Given the description of an element on the screen output the (x, y) to click on. 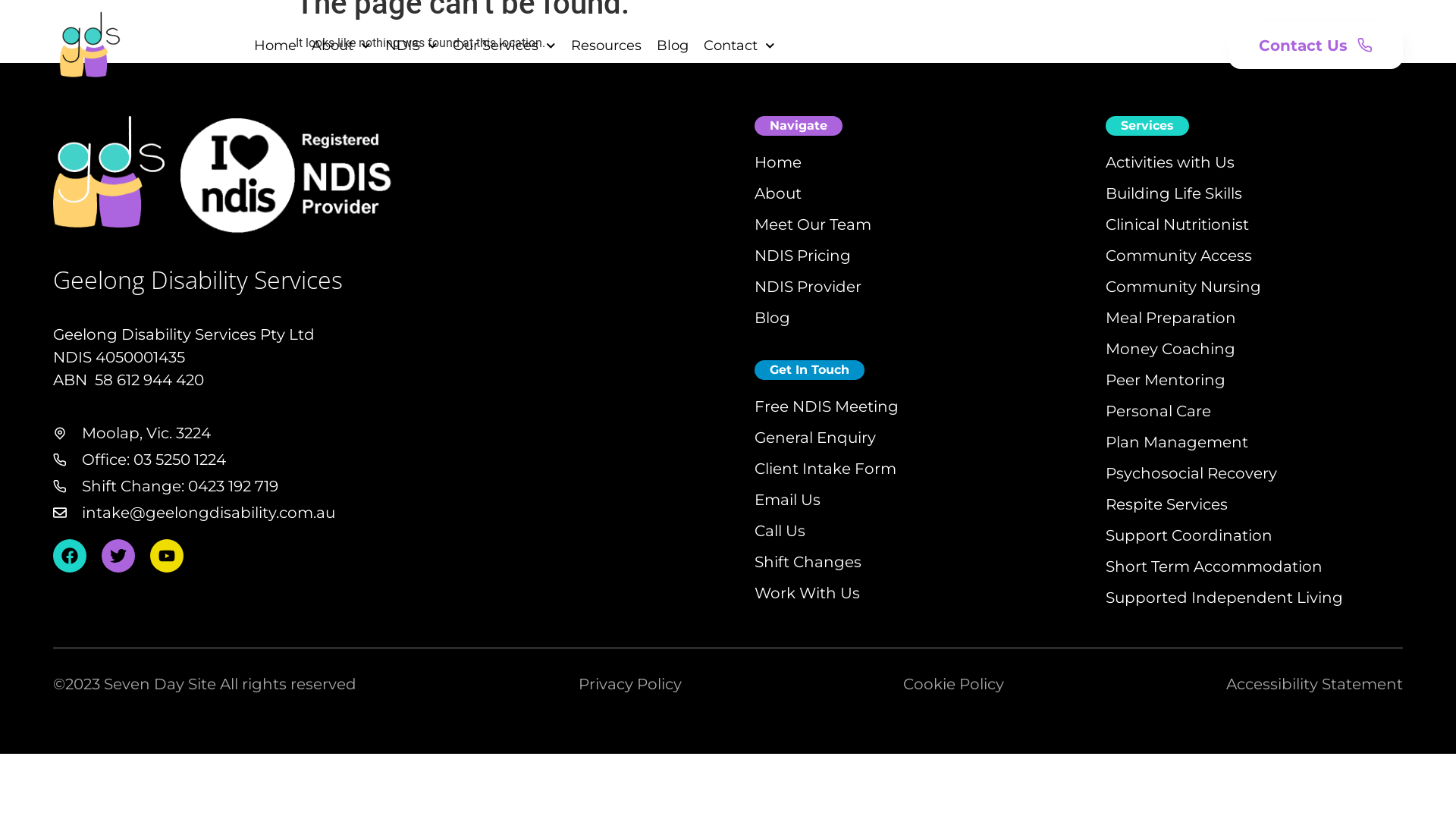
Meal Preparation Element type: text (1170, 317)
NDIS Provider Element type: text (807, 286)
Money Coaching Element type: text (1170, 348)
Peer Mentoring Element type: text (1165, 380)
Community Access Element type: text (1178, 255)
Short Term Accommodation Element type: text (1213, 566)
Client Intake Form Element type: text (825, 468)
Personal Care Element type: text (1158, 411)
Support Coordination Element type: text (1188, 535)
Building Life Skills Element type: text (1173, 193)
Clinical Nutritionist Element type: text (1176, 224)
Community Nursing Element type: text (1183, 286)
Office: 03 5250 1224 Element type: text (403, 459)
Respite Services Element type: text (1166, 504)
Contact Element type: text (739, 45)
Blog Element type: text (772, 317)
Work With Us Element type: text (806, 593)
General Enquiry Element type: text (814, 437)
About Element type: text (777, 193)
Plan Management Element type: text (1176, 442)
Our Services Element type: text (504, 45)
Meet Our Team Element type: text (812, 224)
intake@geelongdisability.com.au Element type: text (403, 512)
Psychosocial Recovery Element type: text (1191, 473)
Shift Changes Element type: text (807, 562)
Contact Us Element type: text (1315, 45)
Home Element type: text (777, 162)
Home Element type: text (275, 45)
Resources Element type: text (606, 45)
Shift Change: 0423 192 719 Element type: text (403, 485)
Free NDIS Meeting Element type: text (826, 406)
Supported Independent Living Element type: text (1224, 597)
Email Us Element type: text (787, 499)
Activities with Us Element type: text (1169, 162)
About Element type: text (341, 45)
Blog Element type: text (672, 45)
NDIS Pricing Element type: text (802, 255)
Call Us Element type: text (779, 530)
NDIS Element type: text (411, 45)
